Given the description of an element on the screen output the (x, y) to click on. 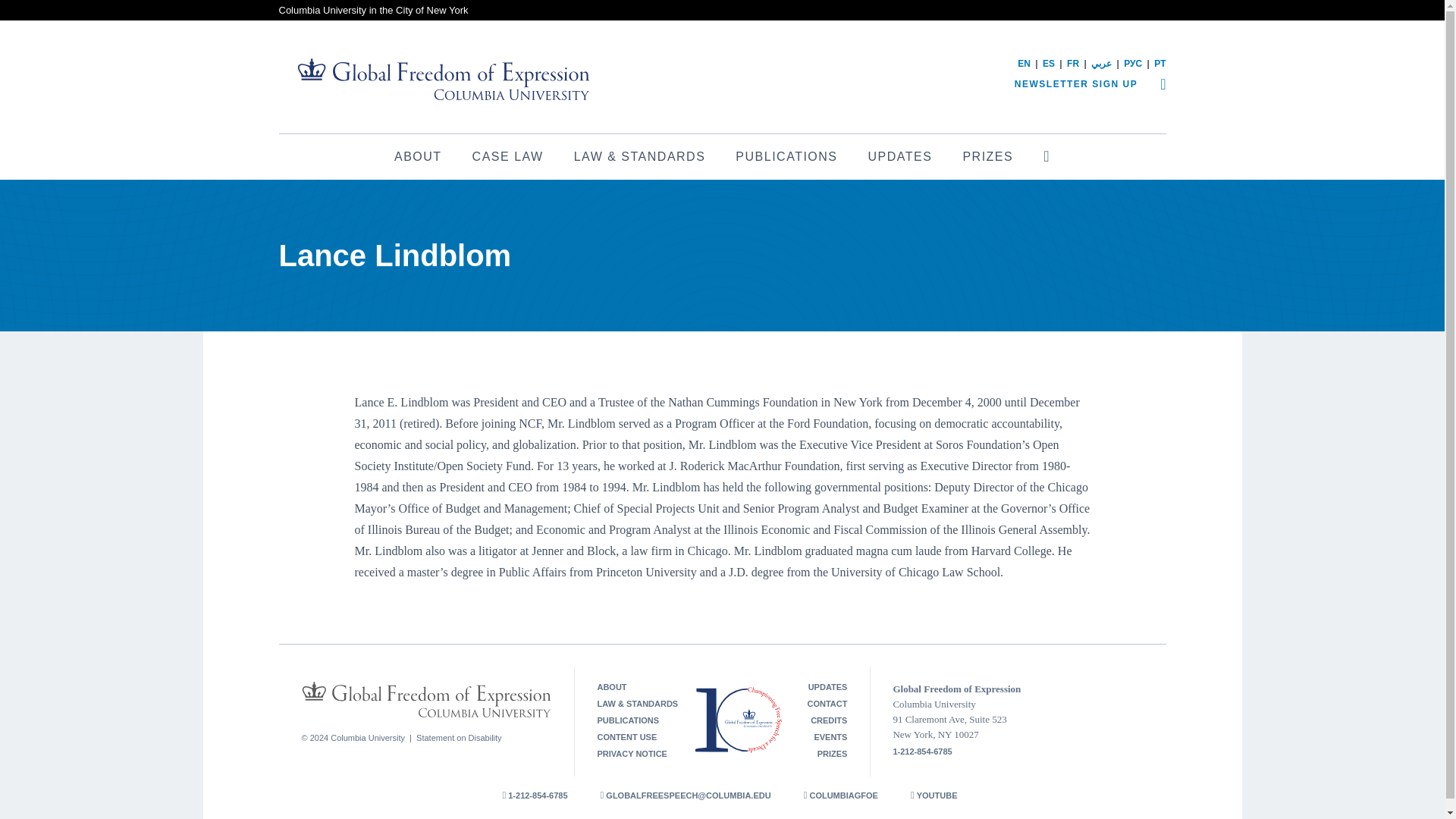
UPDATES (900, 156)
PRIZES (987, 156)
ABOUT (611, 686)
FR (1072, 63)
Statement on Disability (459, 737)
CASE LAW (508, 156)
ABOUT (417, 156)
Columbia University in the City of New York (373, 9)
PT (1160, 63)
